Given the description of an element on the screen output the (x, y) to click on. 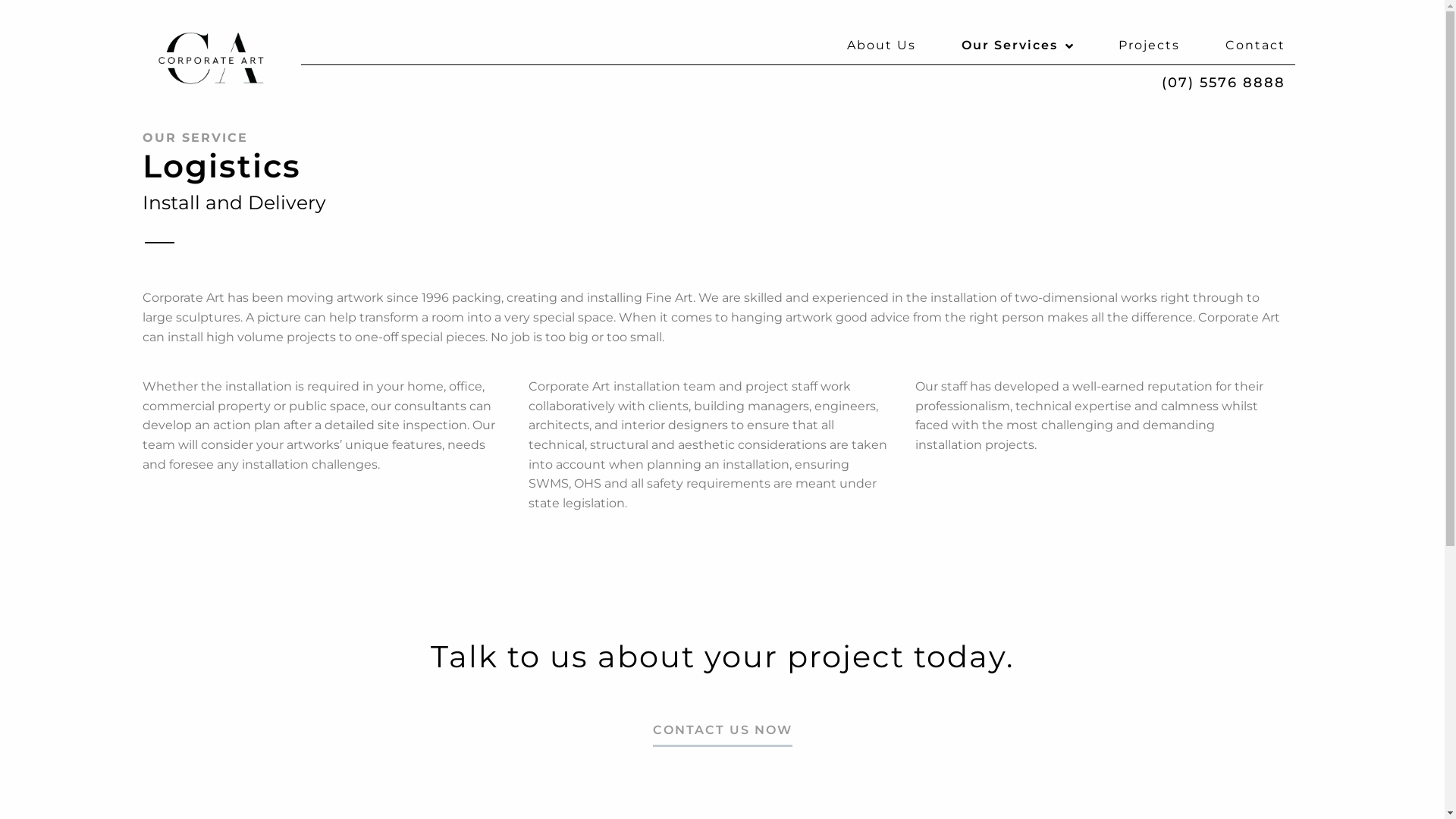
(07) 5576 8888 Element type: text (1223, 82)
CONTACT US NOW Element type: text (721, 734)
Projects Element type: text (1148, 45)
Contact Element type: text (1255, 45)
About Us Element type: text (880, 45)
Our Services Element type: text (1016, 45)
